Given the description of an element on the screen output the (x, y) to click on. 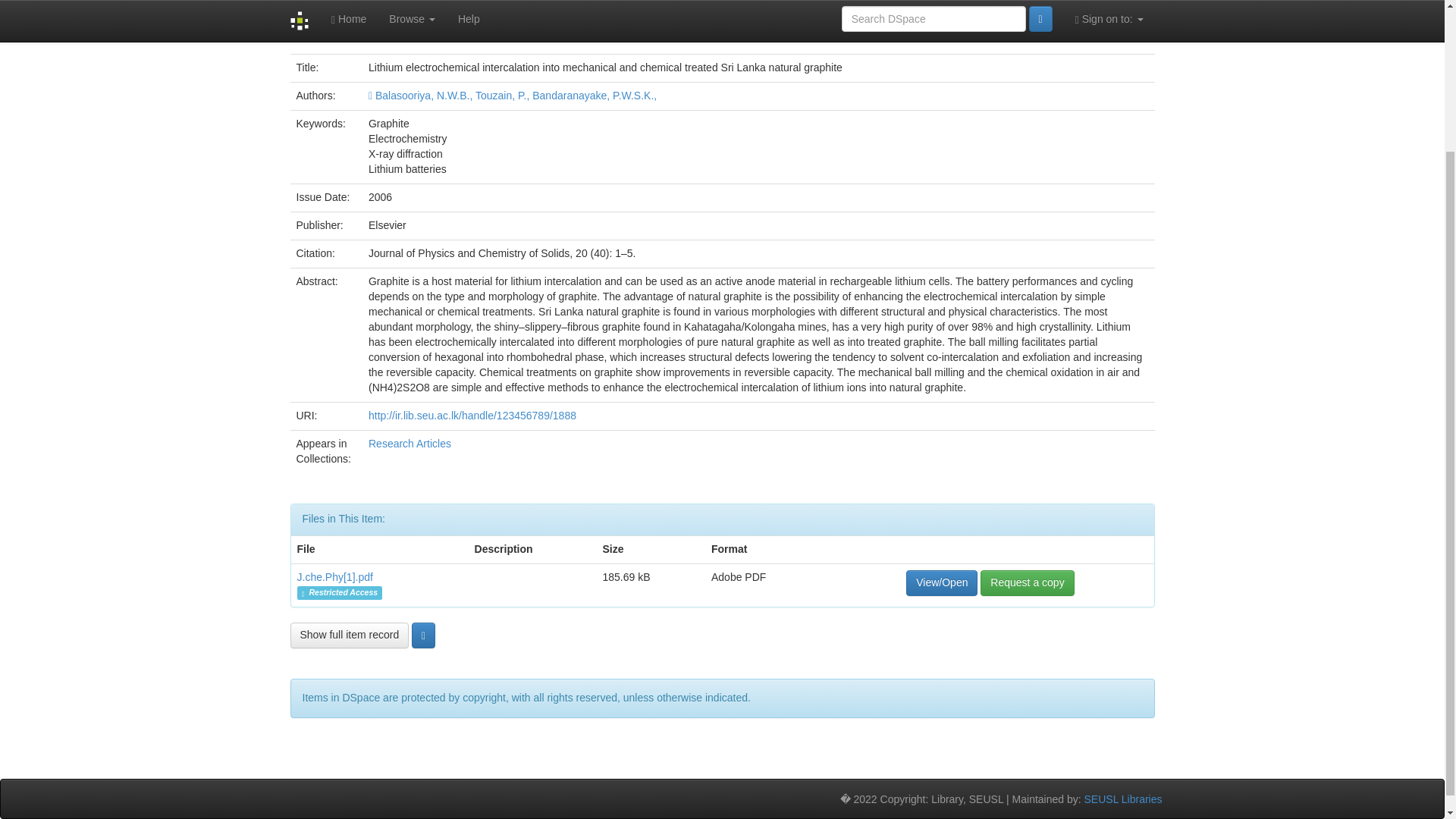
Show full item record (349, 635)
Research Articles (409, 443)
SEUSL Libraries (1122, 799)
Request a copy (1026, 583)
